Given the description of an element on the screen output the (x, y) to click on. 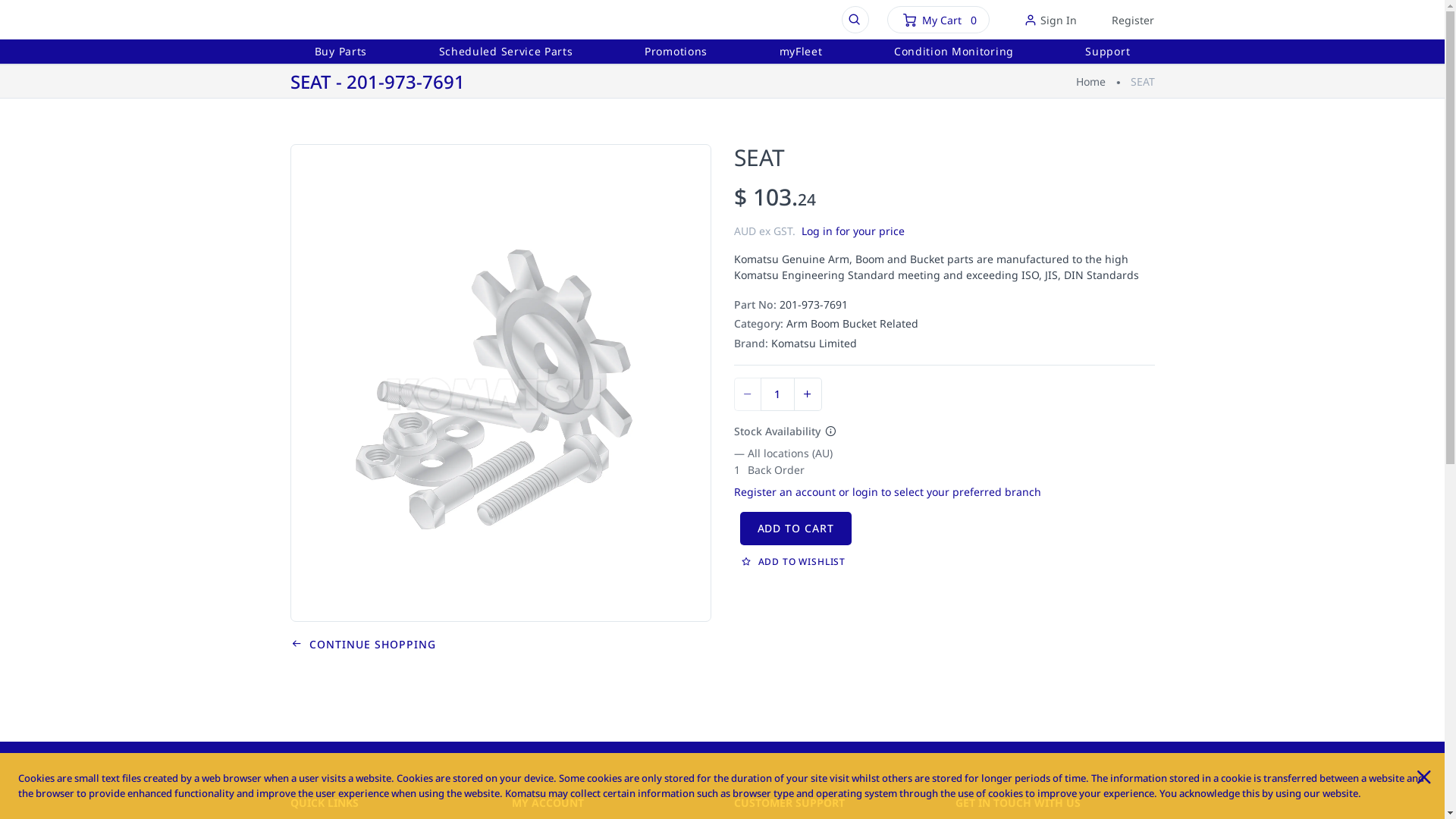
ADD TO CART Element type: text (796, 528)
Log in for your price Element type: text (851, 230)
  Sign In Element type: text (1049, 20)
Support Element type: text (1107, 54)
ADD TO WISHLIST Element type: text (794, 561)
Register an account or login to select your preferred branch Element type: text (887, 491)
  Register Element type: text (1124, 20)
Home Element type: text (1089, 81)
Buy Parts Element type: text (340, 54)
Condition Monitoring Element type: text (953, 54)
Scheduled Service Parts Element type: text (505, 54)
Promotions Element type: text (675, 54)
myFleet Element type: text (800, 54)
  CONTINUE SHOPPING Element type: text (362, 644)
